Given the description of an element on the screen output the (x, y) to click on. 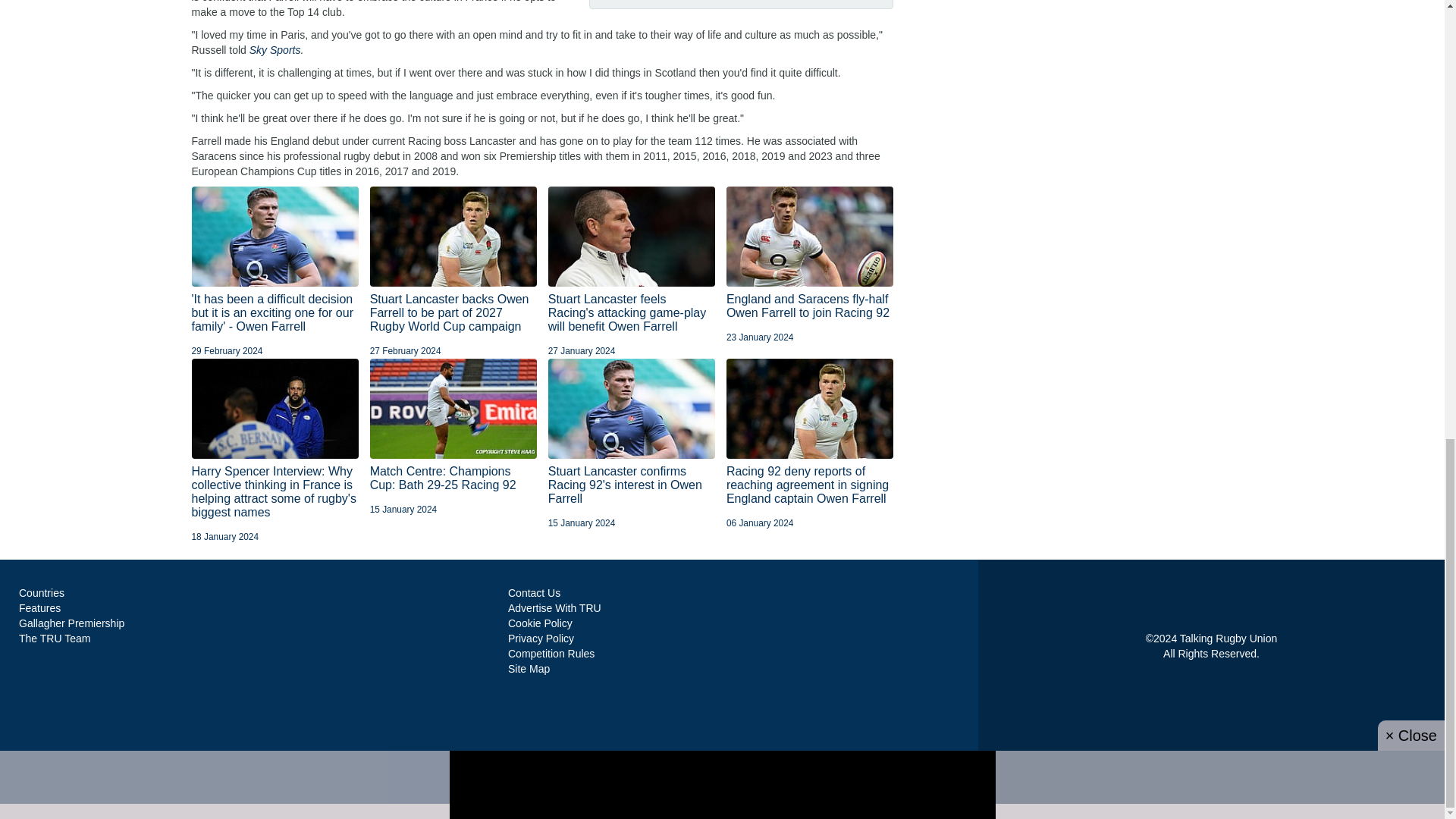
Joe Cokanasiga was one of the try scorer for Bath Rugby (453, 408)
Owen Farrell made his England debut under Stuart Lancaster (632, 236)
Owen Farrell has signed a two year deal with Racing 92 (453, 236)
